Given the description of an element on the screen output the (x, y) to click on. 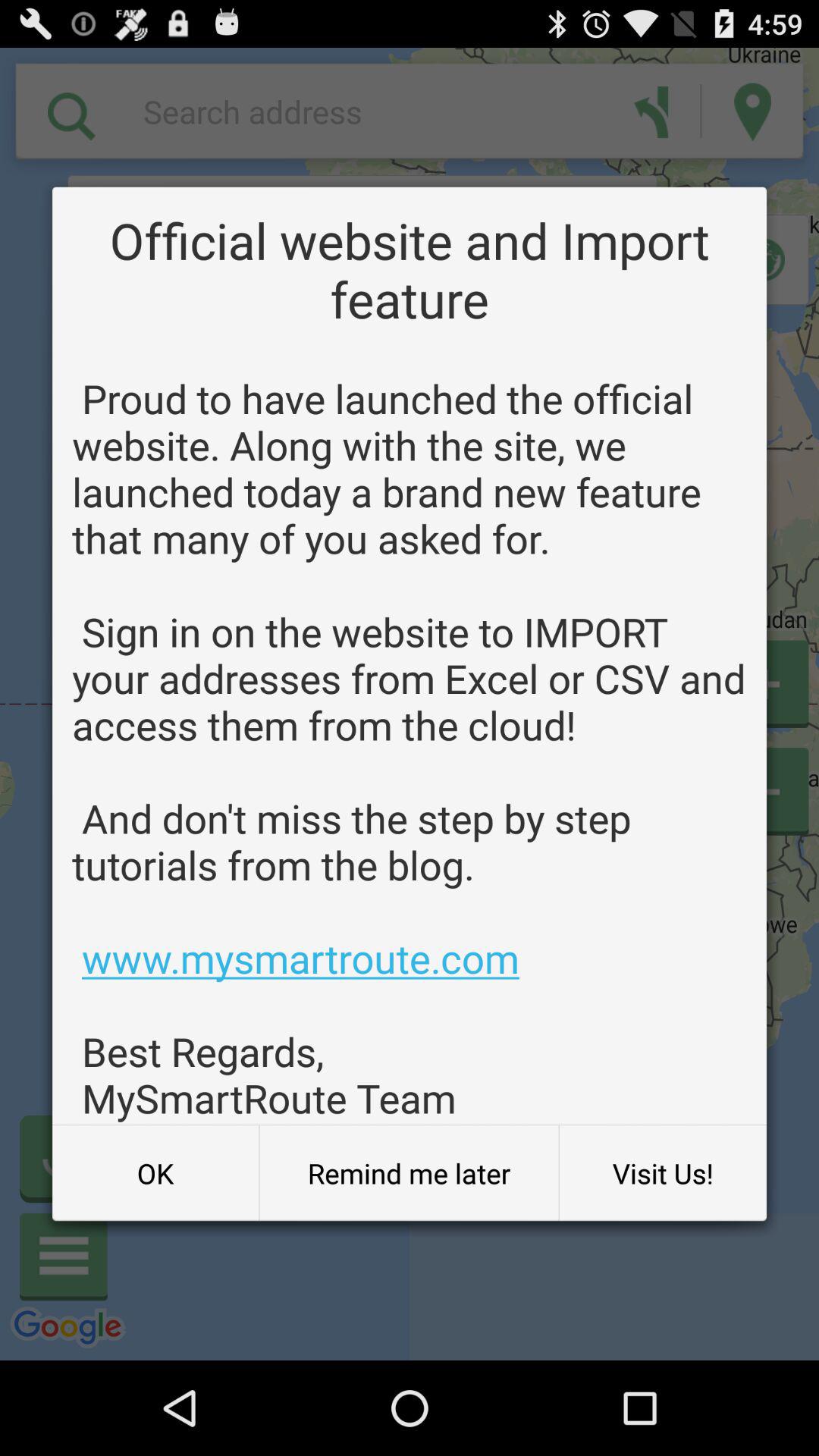
tap proud to have item (409, 747)
